Given the description of an element on the screen output the (x, y) to click on. 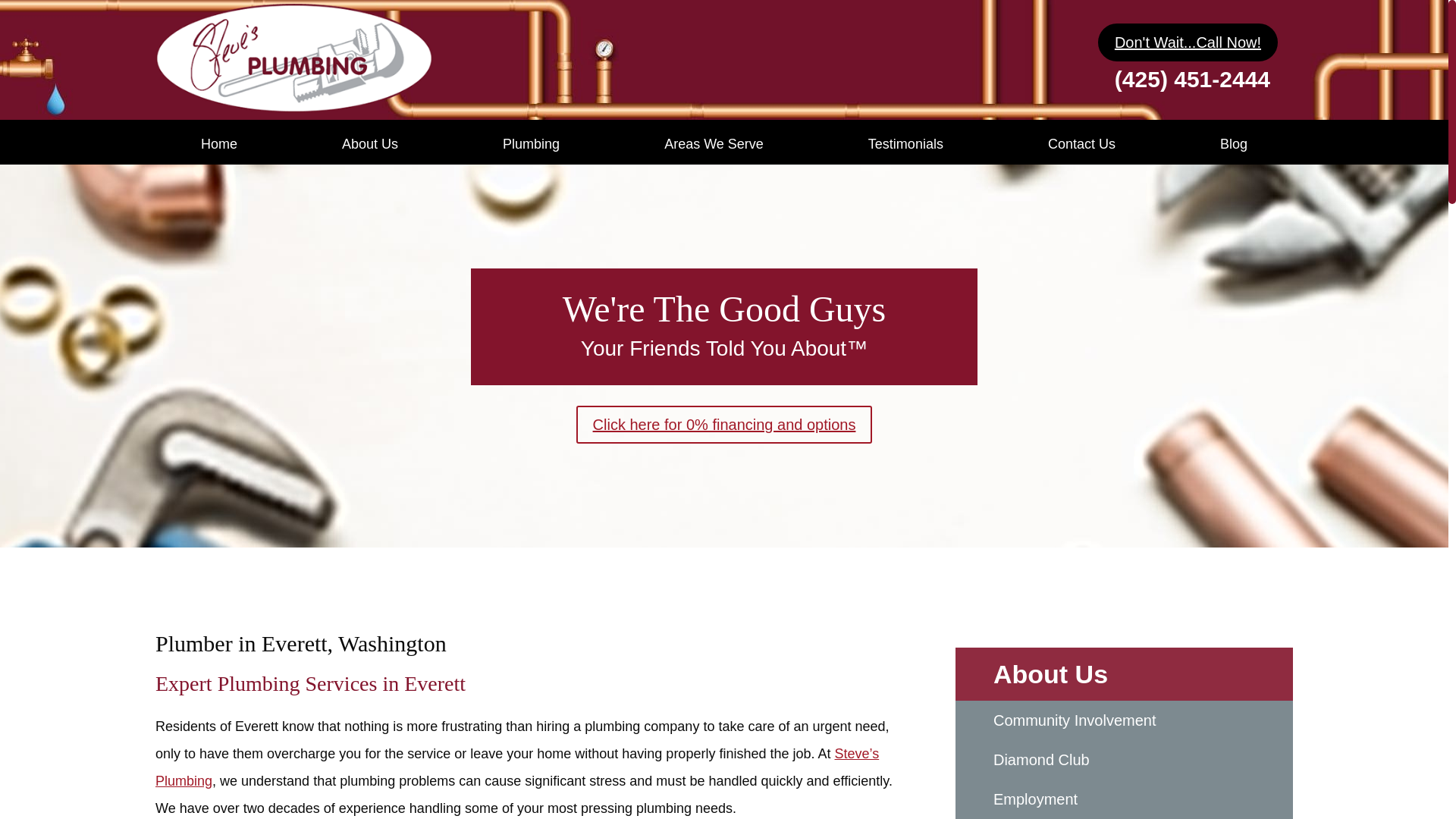
Don't Wait...Call Now! (1187, 42)
Home (218, 143)
Plumbing (531, 143)
About Us (369, 143)
logo (293, 58)
Areas We Serve (713, 143)
